Given the description of an element on the screen output the (x, y) to click on. 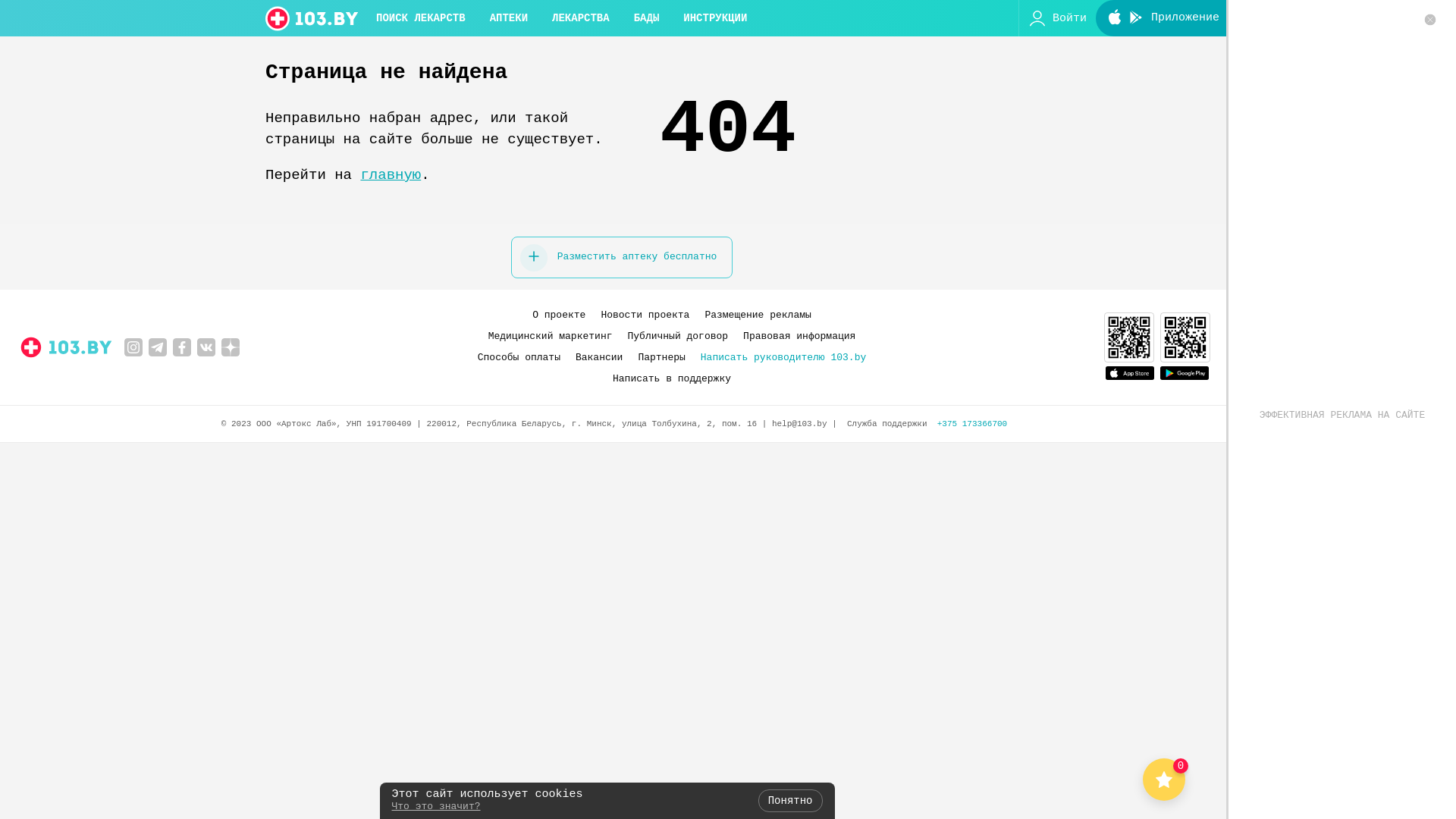
+375 173366700 Element type: text (972, 423)
